Given the description of an element on the screen output the (x, y) to click on. 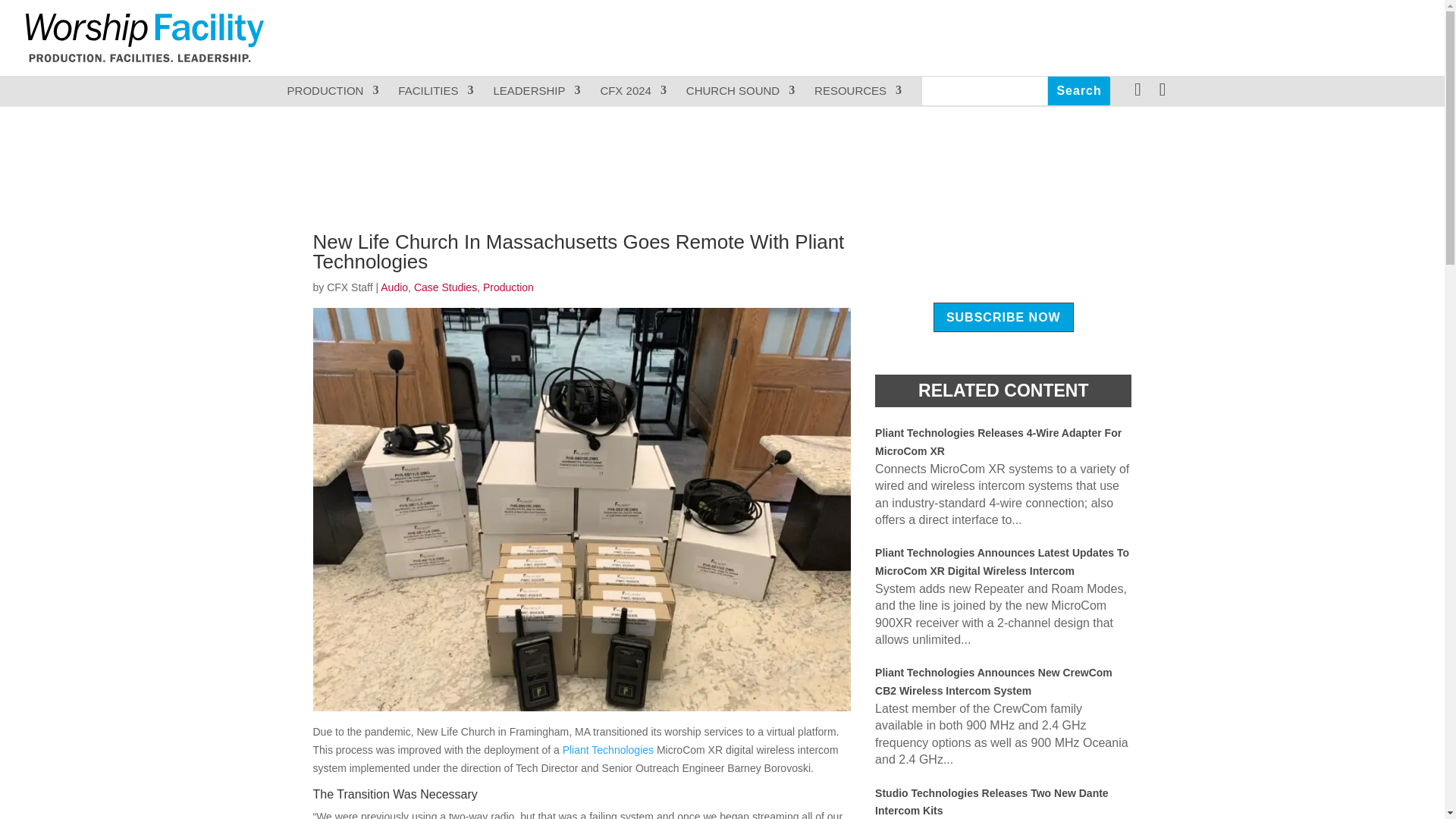
Posts by CFX Staff (349, 287)
FACILITIES (435, 91)
LEADERSHIP (536, 91)
CFX 2024 (632, 91)
RESOURCES (857, 91)
Pliant Technologies Releases 4-Wire Adapter For MicroCom XR (998, 441)
CHURCH SOUND (739, 91)
